Given the description of an element on the screen output the (x, y) to click on. 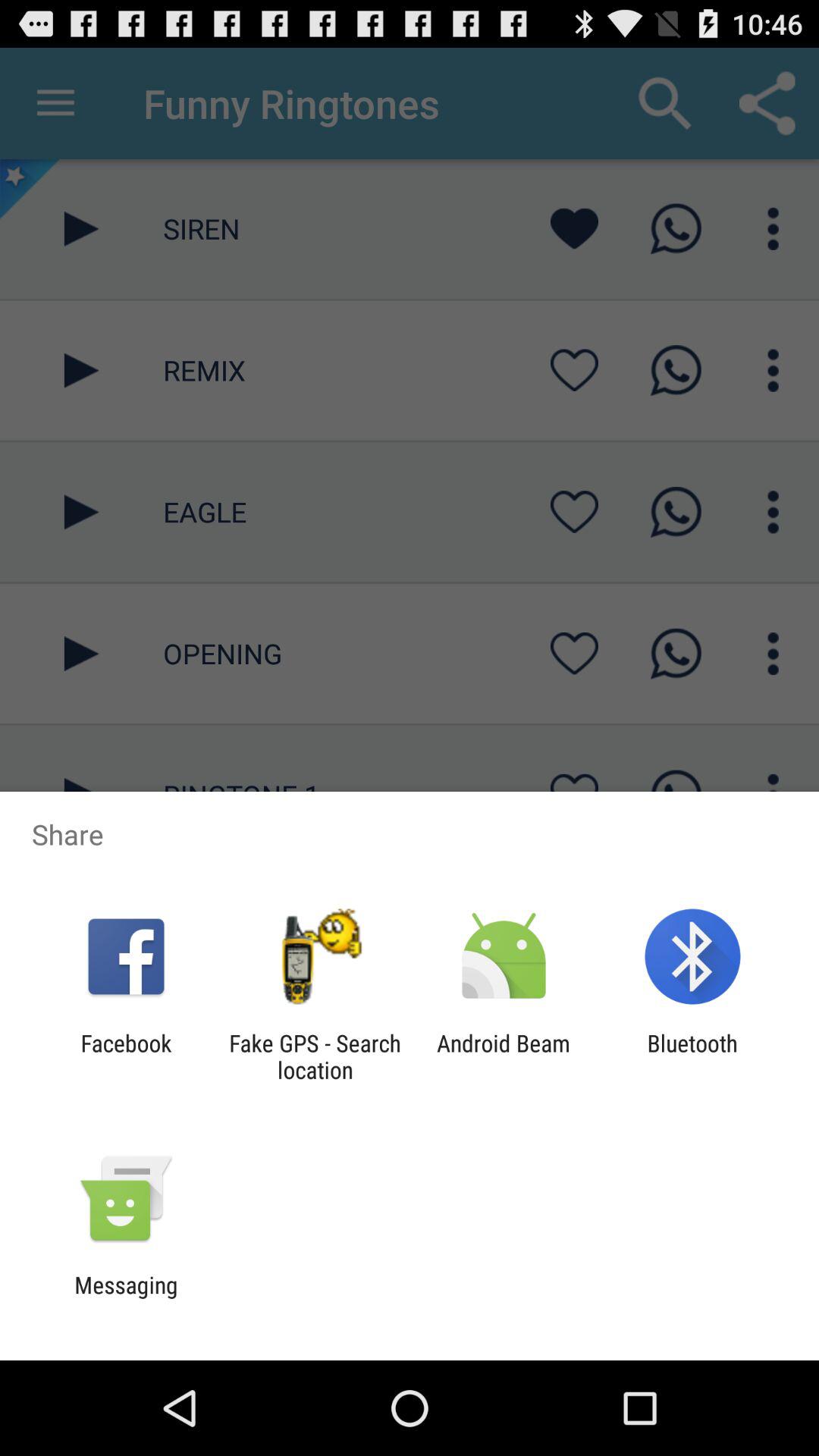
turn off the android beam item (503, 1056)
